Given the description of an element on the screen output the (x, y) to click on. 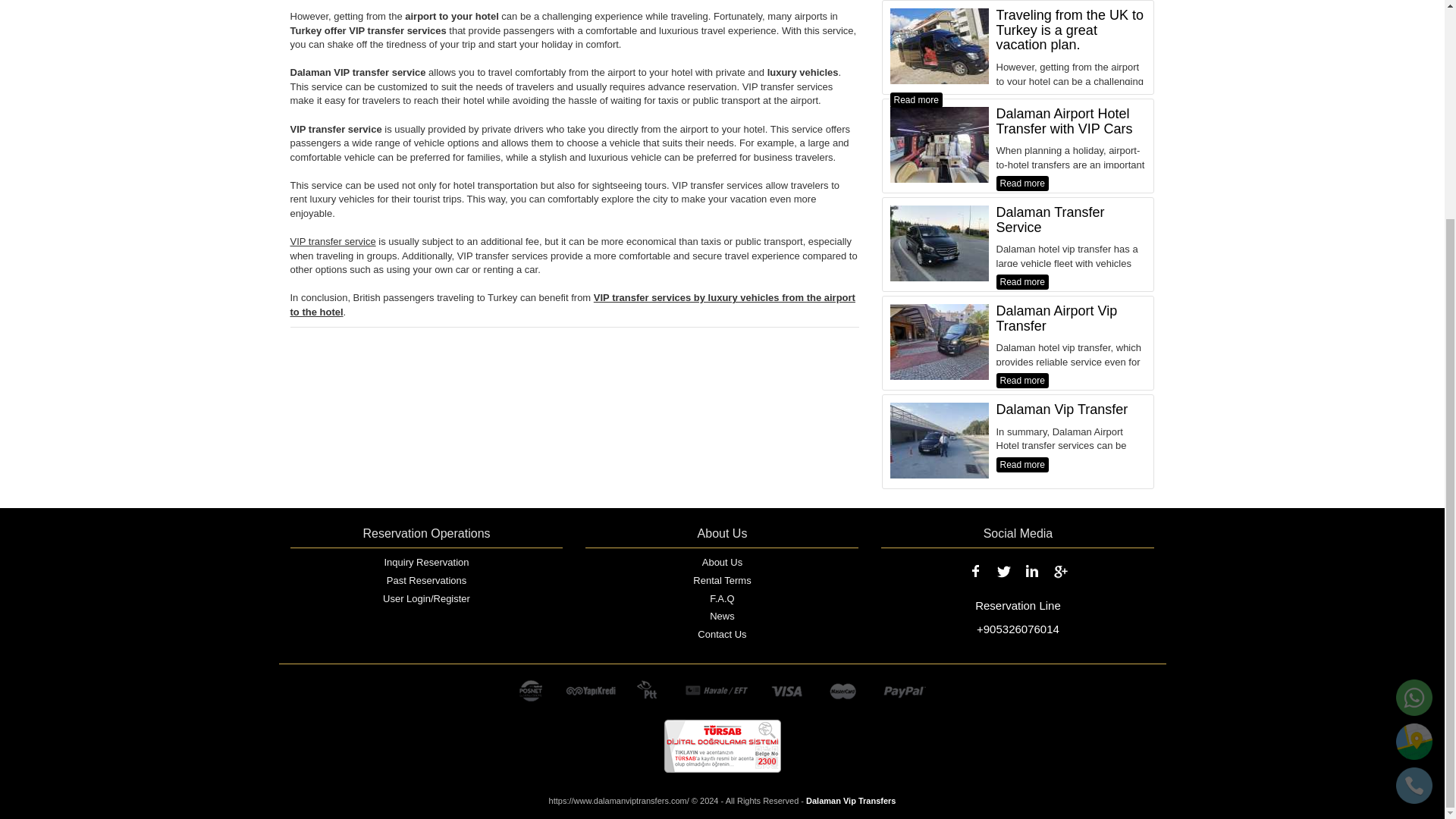
Read more (1021, 380)
Contact Us (722, 637)
Read more (1021, 183)
About Us (722, 565)
News (722, 618)
Read more (1021, 281)
Inquiry Reservation (425, 565)
Read more (1021, 464)
Past Reservations (425, 583)
Rental Terms (722, 583)
